Given the description of an element on the screen output the (x, y) to click on. 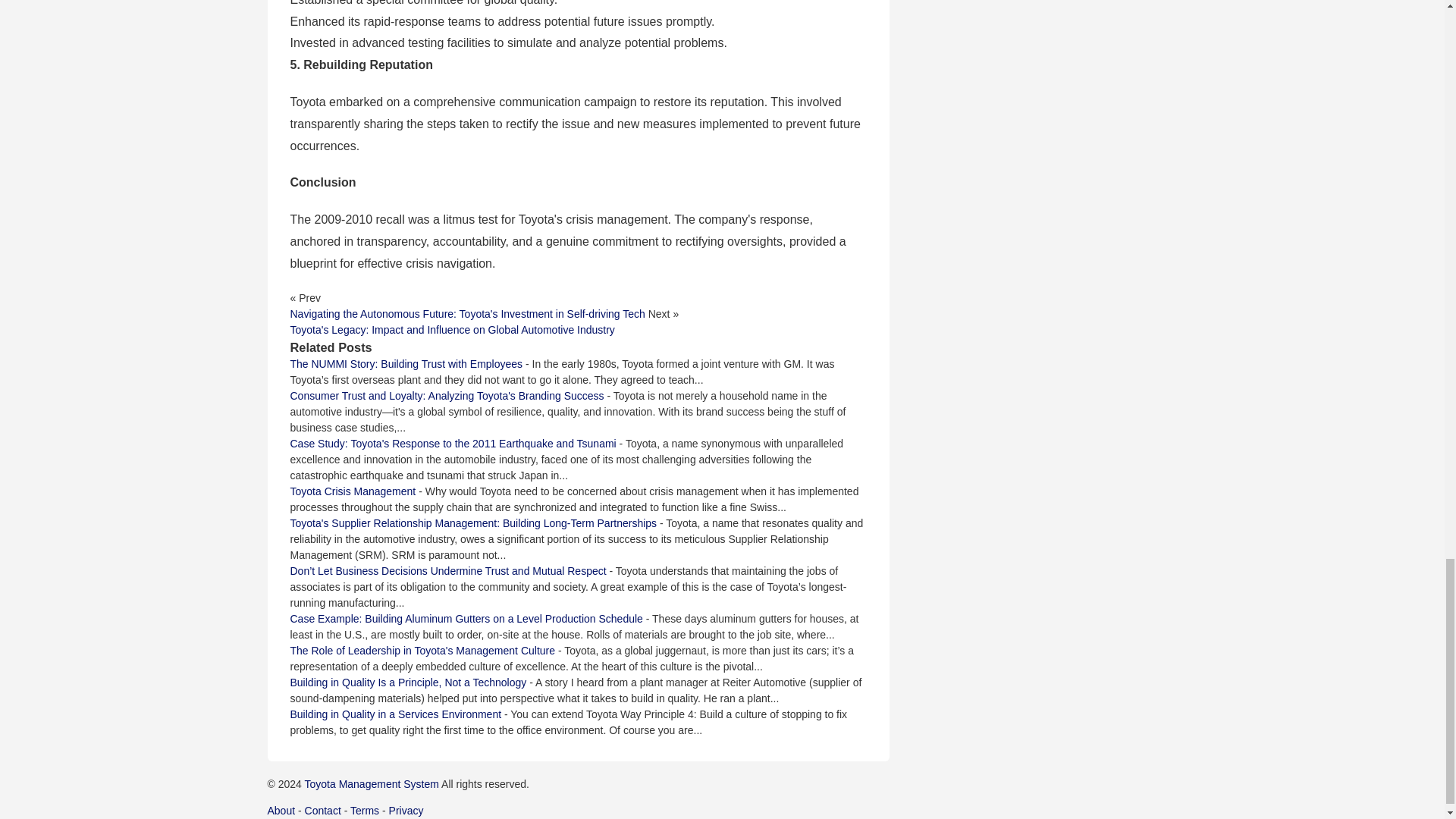
Privacy Policy (405, 810)
Building in Quality Is a Principle, Not a Technology (407, 682)
The Role of Leadership in Toyota's Management Culture (421, 650)
Building in Quality in a Services Environment (394, 714)
The NUMMI Story: Building Trust with Employees (405, 363)
The NUMMI Story: Building Trust with Employees (405, 363)
Building in Quality in a Services Environment (394, 714)
Toyota Crisis Management (351, 491)
